Given the description of an element on the screen output the (x, y) to click on. 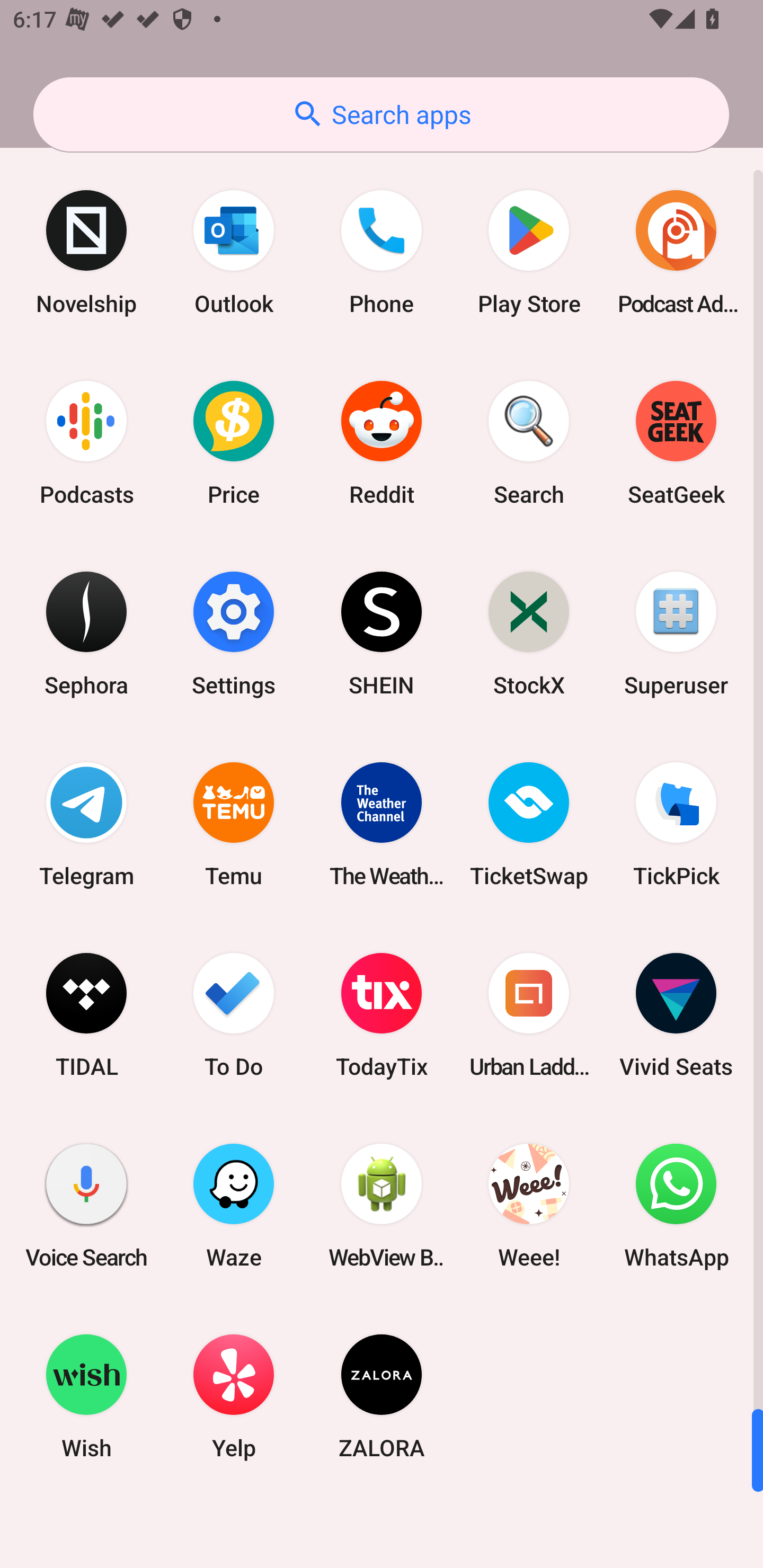
Yelp (233, 1396)
